Given the description of an element on the screen output the (x, y) to click on. 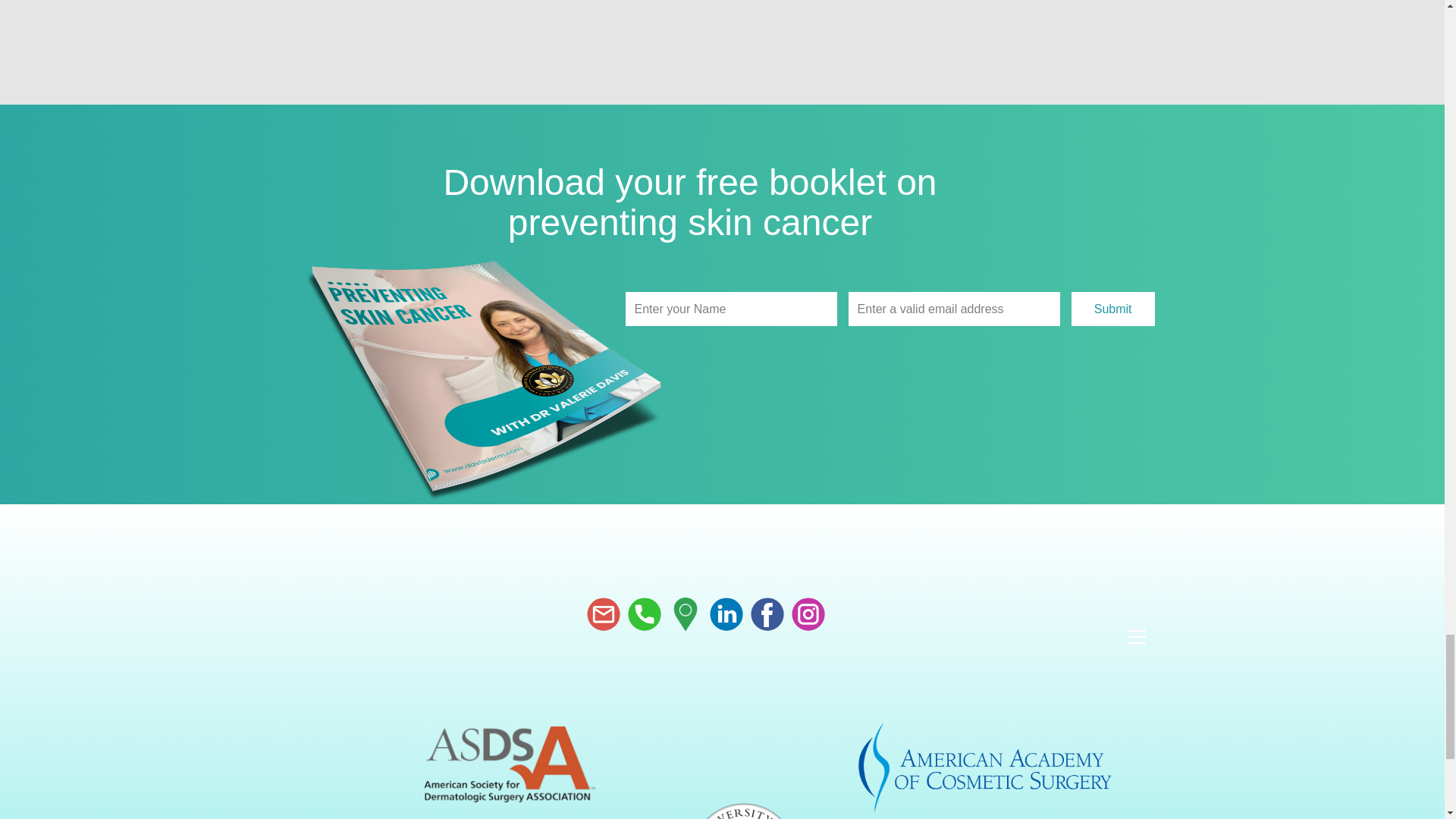
Custom (684, 613)
Instagram (808, 613)
LinkedIn (726, 613)
Facebook (767, 613)
Phone (644, 613)
Email (603, 613)
